Given the description of an element on the screen output the (x, y) to click on. 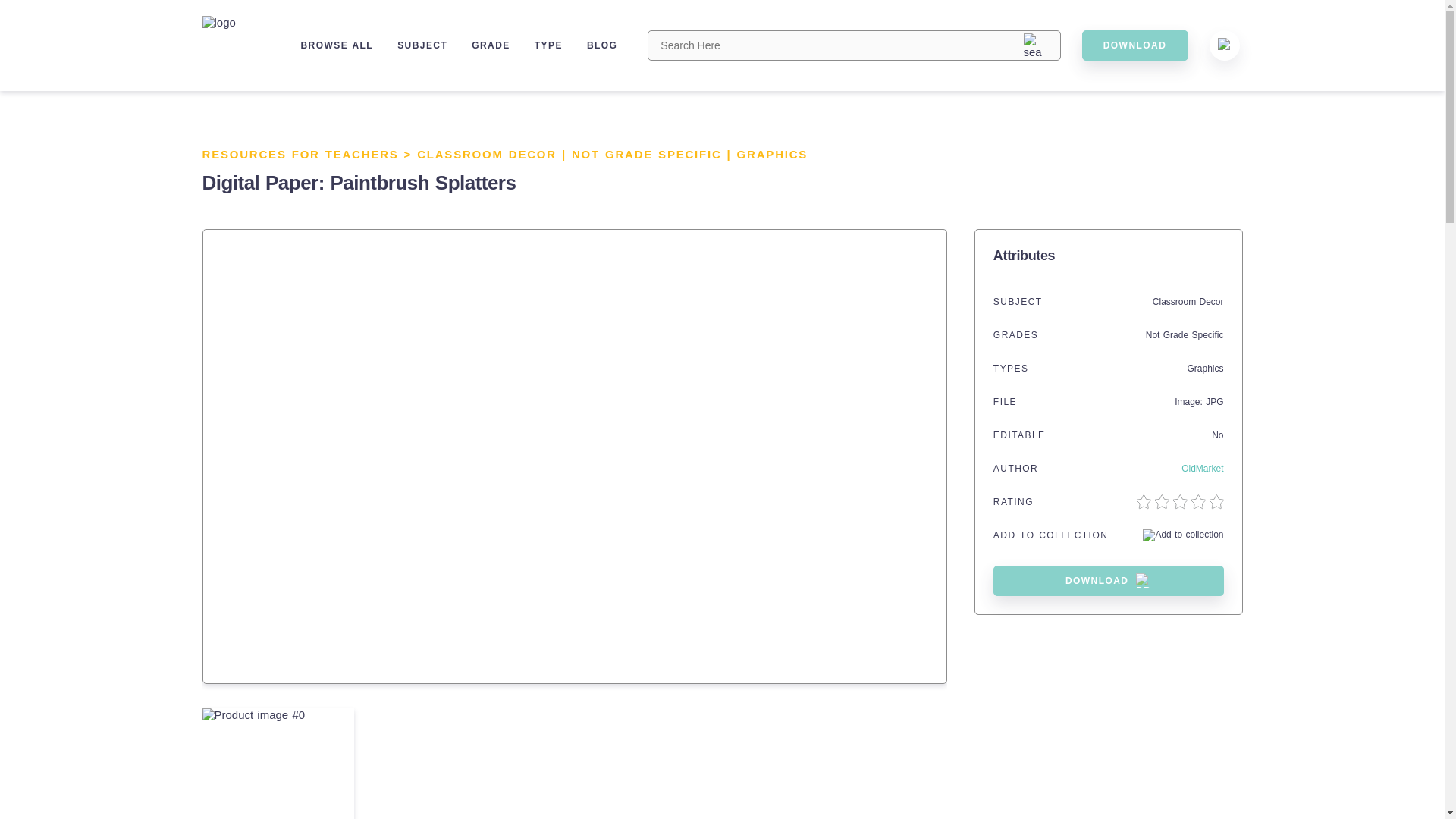
Classroom Decor (1188, 301)
BLOG (601, 45)
RESOURCES FOR TEACHERS (299, 154)
OldMarket (1201, 468)
DOWNLOAD (1134, 45)
NOT GRADE SPECIFIC (647, 154)
CLASSROOM DECOR (486, 154)
Not Grade Specific (1184, 335)
Graphics (1204, 368)
GRAPHICS (772, 154)
Image: JPG (1198, 401)
DOWNLOAD (1108, 580)
